Given the description of an element on the screen output the (x, y) to click on. 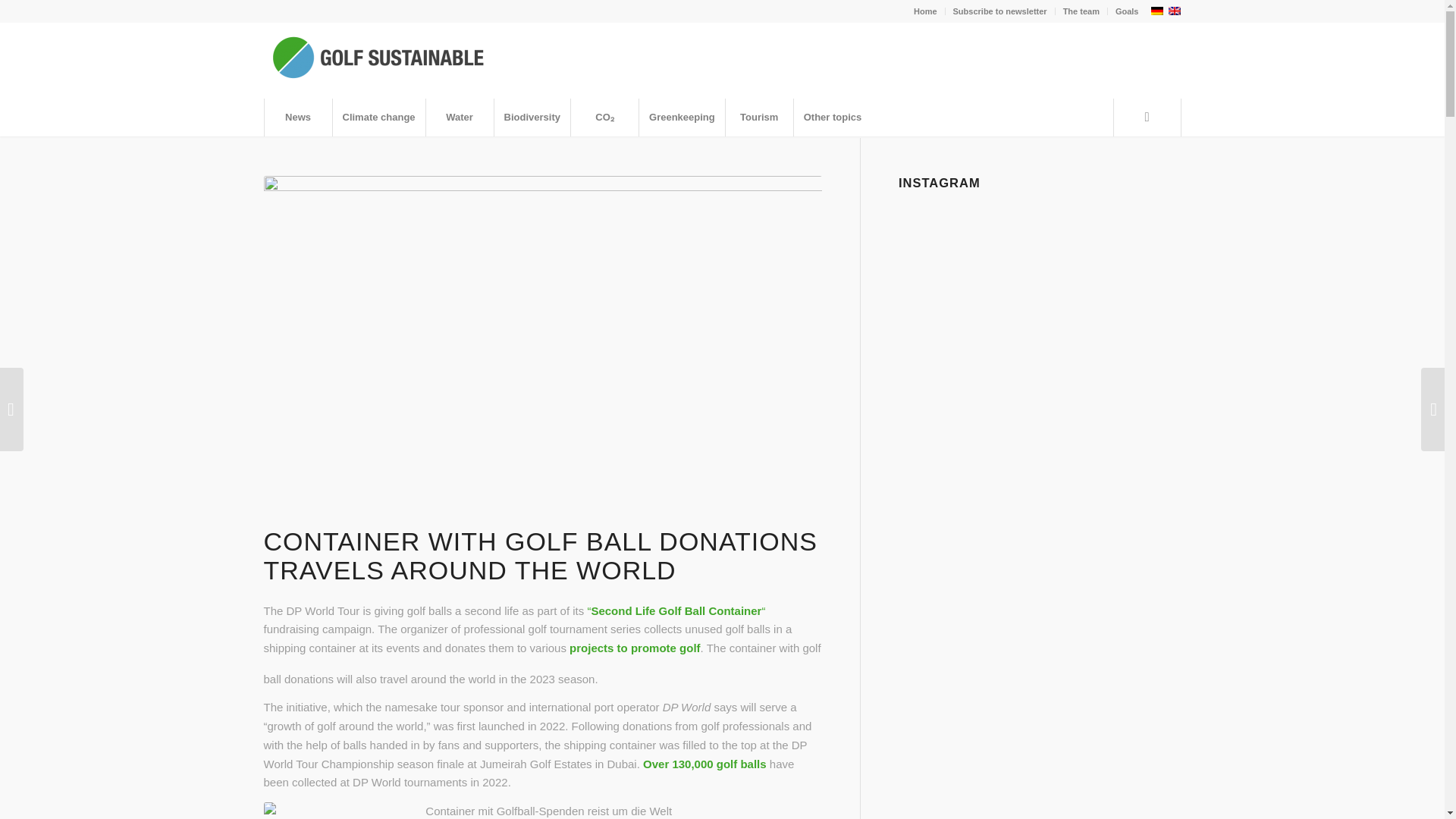
English (1173, 10)
Greenkeeping (682, 117)
Home (925, 11)
News (297, 117)
Tourism (759, 117)
Container mit Golfball-Spenden reist um die Welt (542, 810)
Subscribe to newsletter (999, 11)
Biodiversity (531, 117)
Goals (1126, 11)
Deutsch (1156, 10)
Climate change (378, 117)
The team (1080, 11)
Water (459, 117)
Other topics (832, 117)
